Given the description of an element on the screen output the (x, y) to click on. 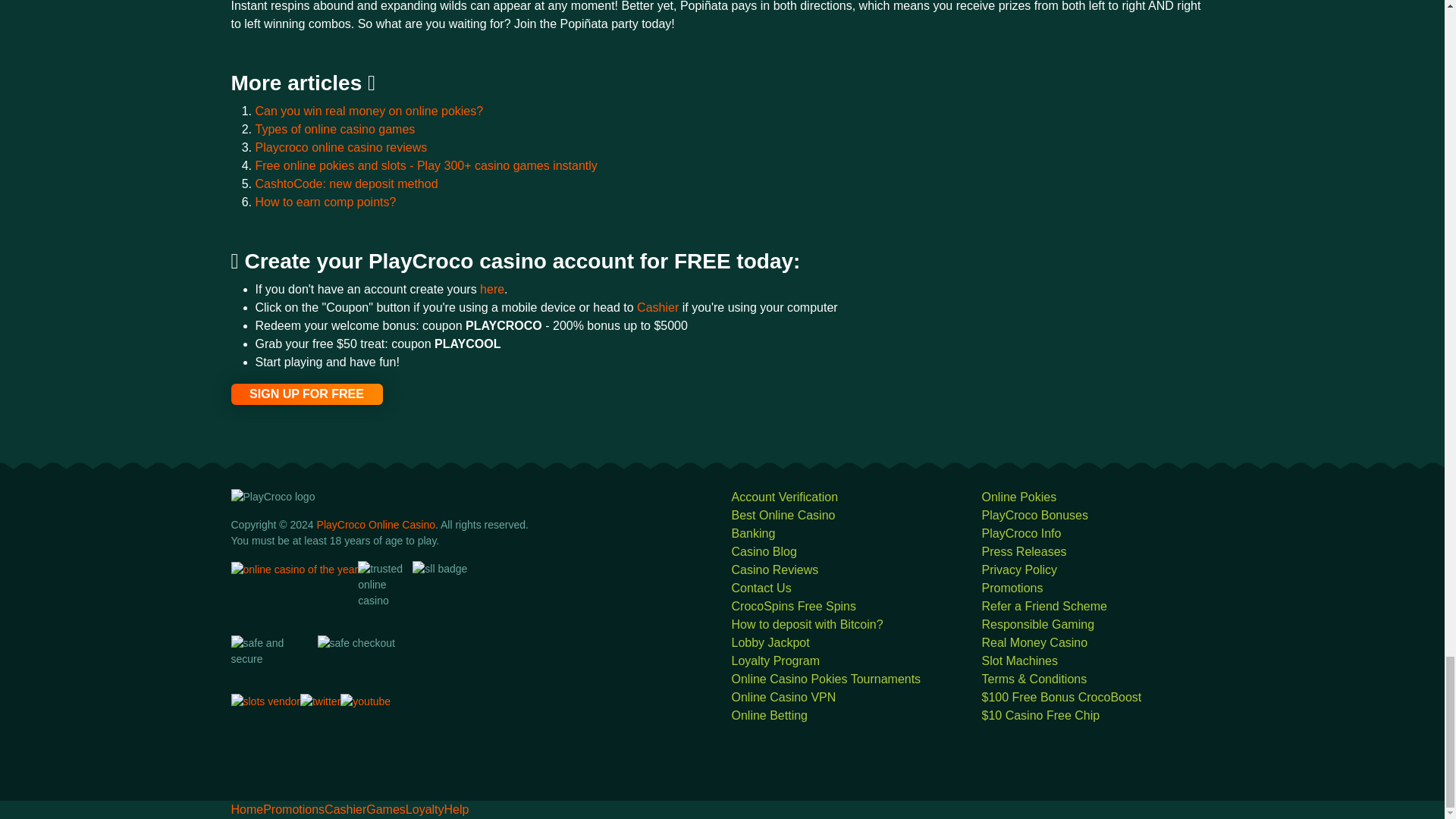
create an account (491, 288)
How to earn comp points? (325, 201)
Can you win real money on online pokies? (368, 110)
Types of online casino games (334, 128)
Account Verification (784, 496)
cashtocode casino deposit method (346, 183)
here (491, 288)
Banking (752, 533)
Playcroco online casino reviews (340, 146)
Types of online casino games (334, 128)
Cashier (659, 307)
SIGN UP FOR FREE (305, 394)
playcroco casino reviews (340, 146)
playcroco online casino cashier (659, 307)
How to earn comp points (325, 201)
